Given the description of an element on the screen output the (x, y) to click on. 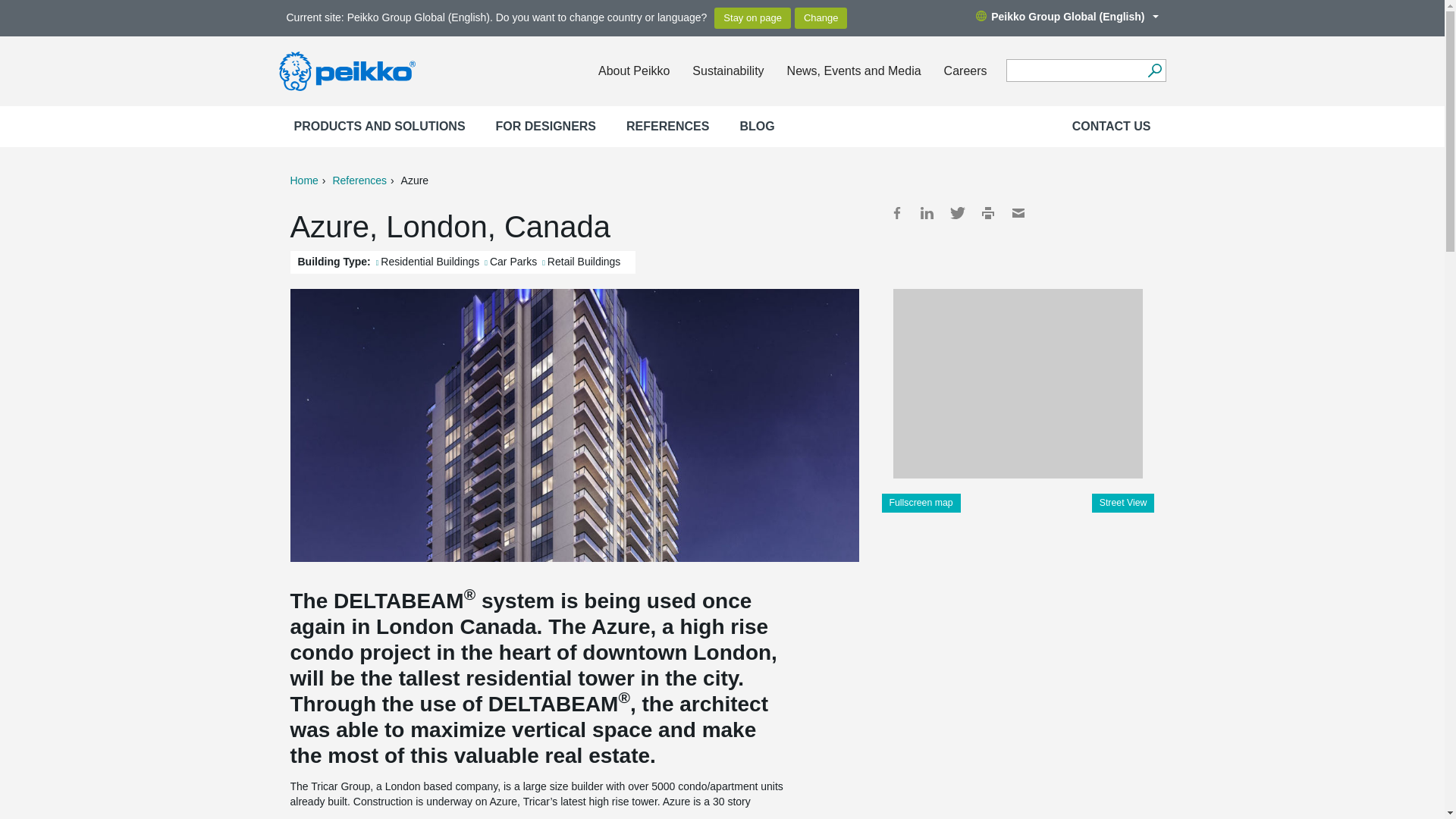
Stay on page (752, 17)
Email link (1017, 212)
Change (820, 17)
